Given the description of an element on the screen output the (x, y) to click on. 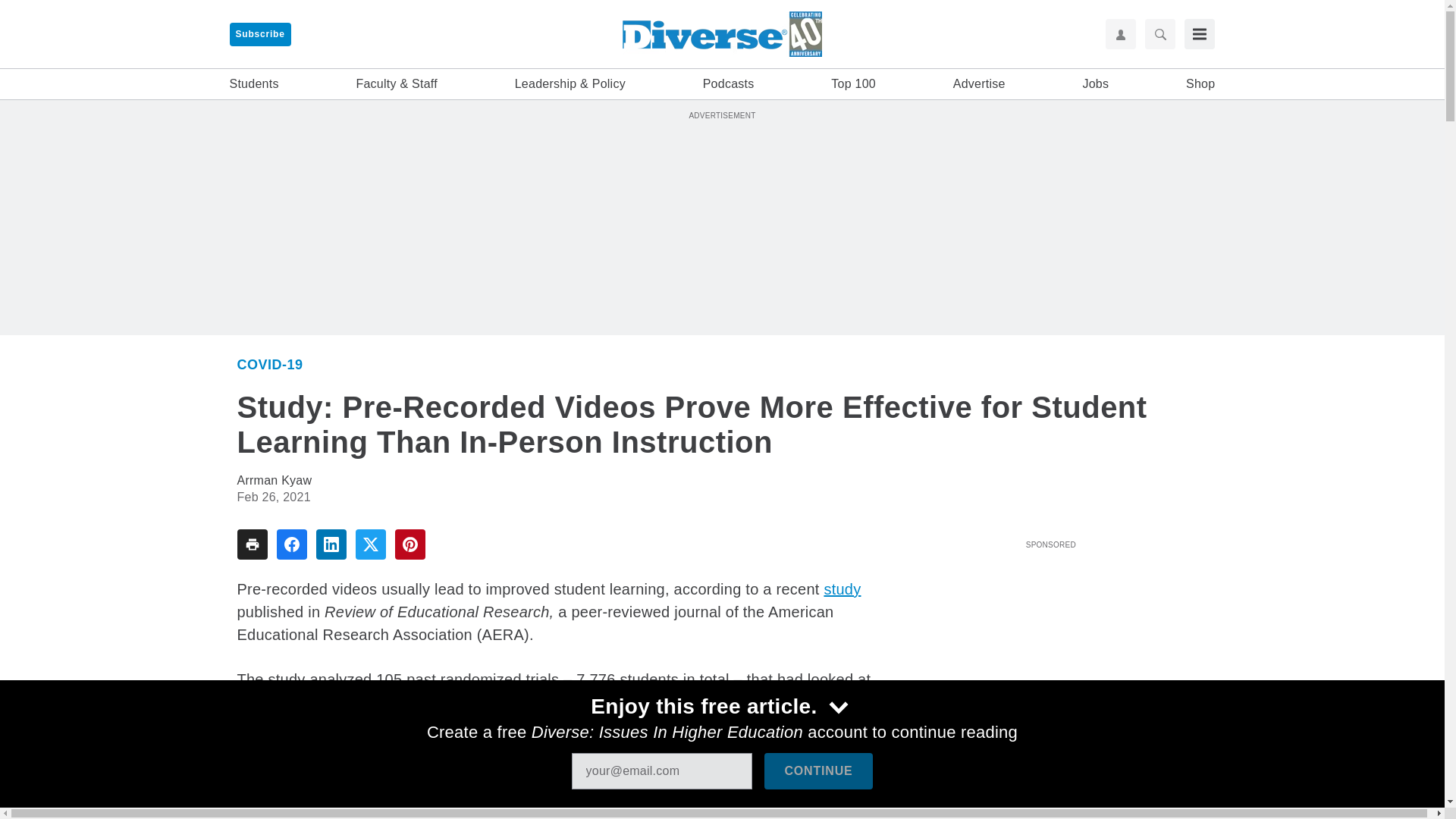
Share To print (250, 544)
Subscribe (258, 33)
3rd party ad content (557, 800)
Advertise (979, 84)
Share To pinterest (409, 544)
Share To twitter (370, 544)
Share To facebook (290, 544)
Share To linkedin (330, 544)
Students (253, 84)
Jobs (1094, 84)
COVID-19 (268, 364)
Shop (1200, 84)
Top 100 (853, 84)
Subscribe (258, 33)
